Given the description of an element on the screen output the (x, y) to click on. 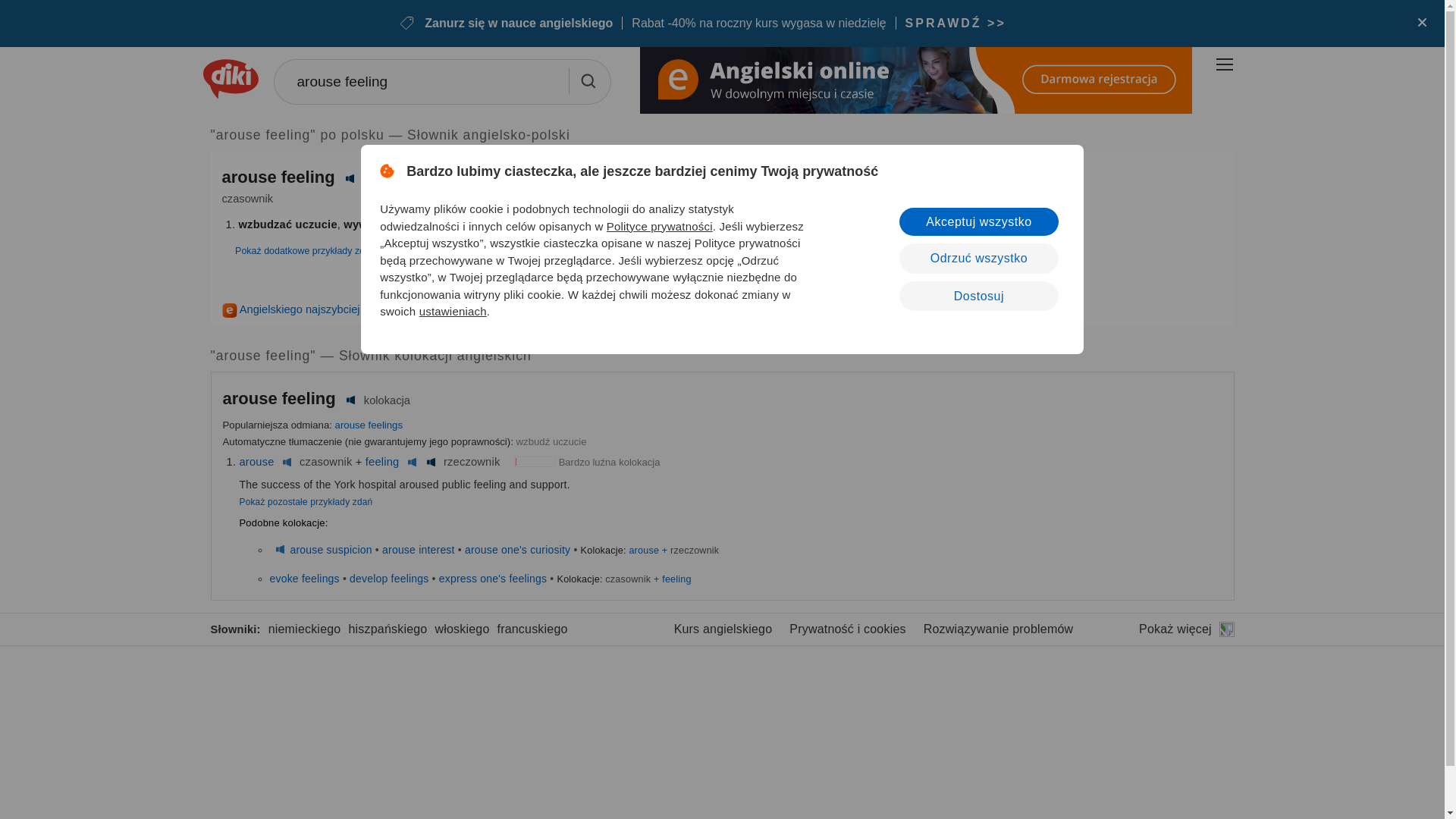
arouse suspicion (330, 549)
arouse feelings (368, 424)
arouse (257, 461)
British English (279, 549)
feeling (381, 461)
British English (287, 461)
American English (350, 399)
British English (412, 461)
evoke feelings (304, 578)
express one's feelings (493, 578)
American English (431, 461)
Szukaj (587, 80)
arouse interest (417, 549)
arouse feeling (441, 81)
Uwaga: kolokacja wygenerowana automatycznie. (281, 398)
